Given the description of an element on the screen output the (x, y) to click on. 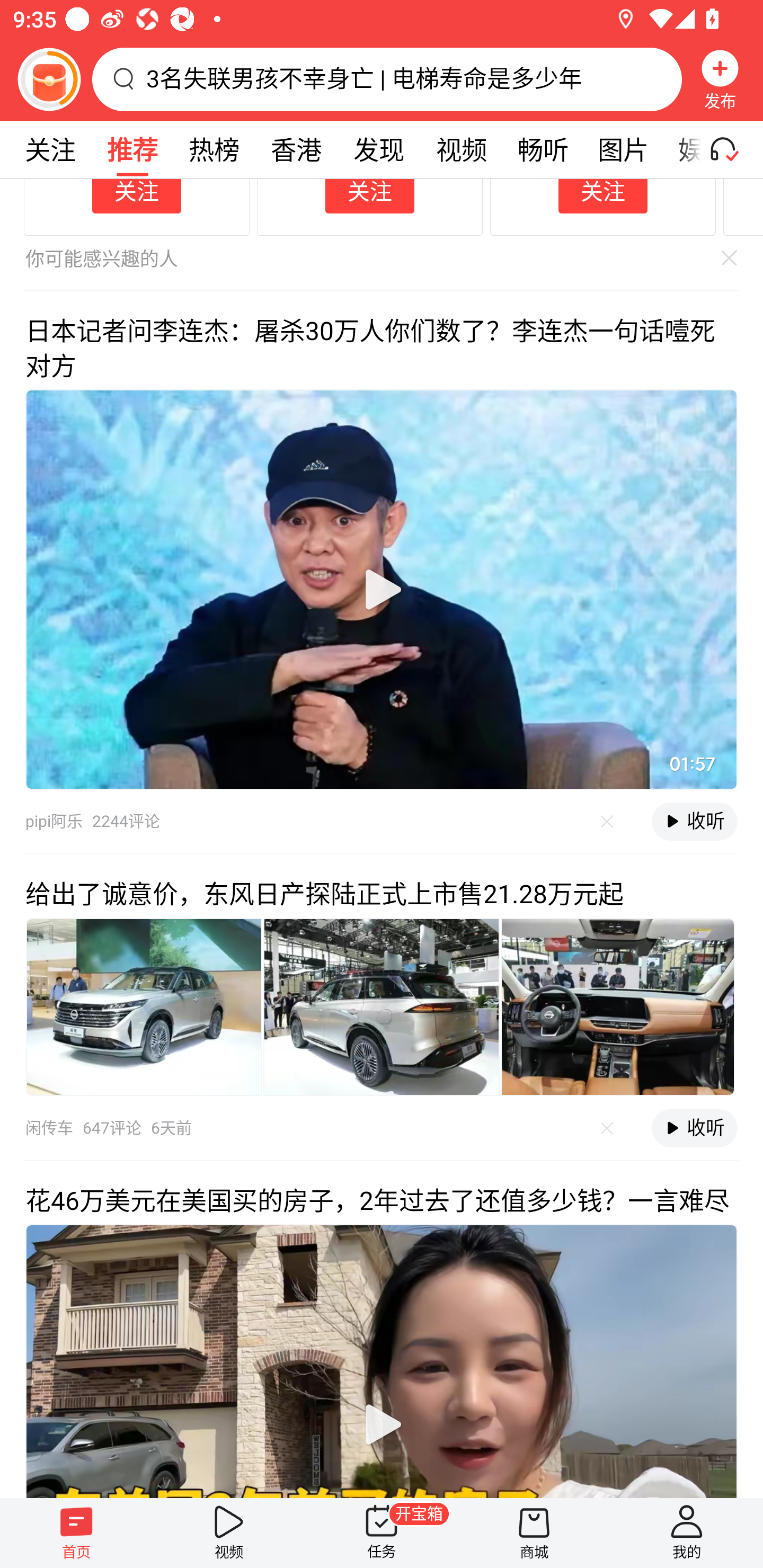
阅读赚金币 (48, 79)
3名失联男孩不幸身亡 | 电梯寿命是多少年 搜索框，3名失联男孩不幸身亡 | 电梯寿命是多少年 (387, 79)
发布 发布，按钮 (720, 78)
关注 (50, 149)
推荐 (132, 149)
热榜 (213, 149)
香港 (295, 149)
发现 (378, 149)
视频 (461, 149)
畅听 (542, 149)
图片 (623, 149)
听一听开关 (732, 149)
关注 (136, 195)
关注 (369, 195)
关注 (602, 195)
移除推荐 (724, 257)
播放视频 视频播放器，双击屏幕打开播放控制 (381, 589)
播放视频 (381, 589)
收听 (694, 821)
不感兴趣 (607, 821)
内容图片 (143, 1006)
内容图片 (381, 1006)
内容图片 (617, 1006)
收听 (694, 1127)
不感兴趣 (607, 1128)
播放视频 视频播放器，双击屏幕打开播放控制 (381, 1360)
播放视频 (381, 1424)
首页 (76, 1532)
视频 (228, 1532)
任务 开宝箱 (381, 1532)
商城 (533, 1532)
我的 (686, 1532)
